Given the description of an element on the screen output the (x, y) to click on. 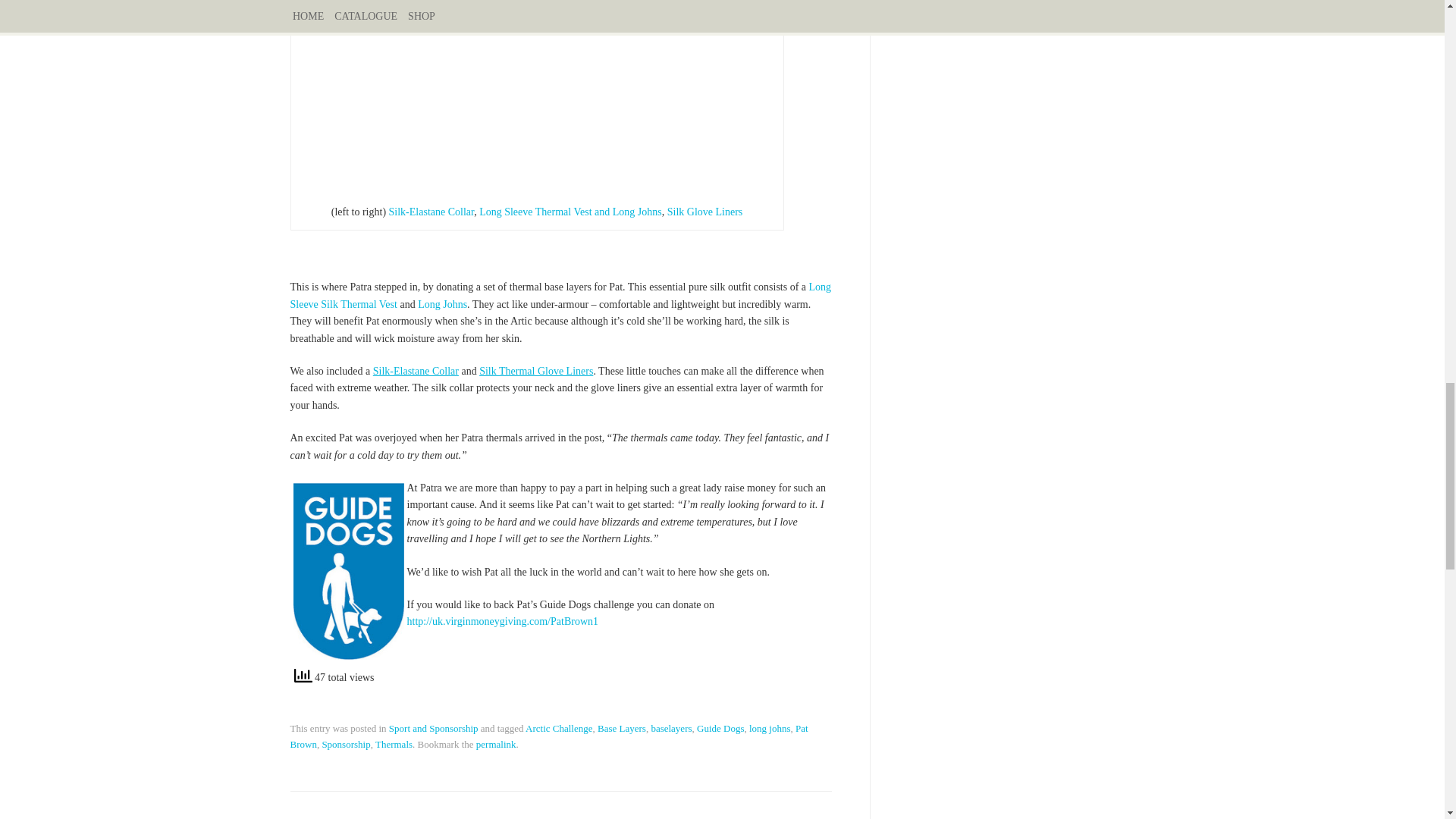
long johns (769, 727)
Pat Brown (548, 736)
Mens Long Johns (442, 304)
permalink (496, 744)
Long Johns (442, 304)
Thermals (393, 744)
Silk-Elastane Collar (416, 370)
Silk Glove Liners (704, 211)
Guide Dogs (720, 727)
Silk-Elastane Collar (431, 211)
Long sleeved thermal vest (570, 211)
Long Sleeve Thermal Vest and Long Johns (570, 211)
Long Sleeve Silk Thermal Vest  (560, 295)
Donate To Pat Brown (502, 621)
Silk-Elastane Collar (431, 211)
